Given the description of an element on the screen output the (x, y) to click on. 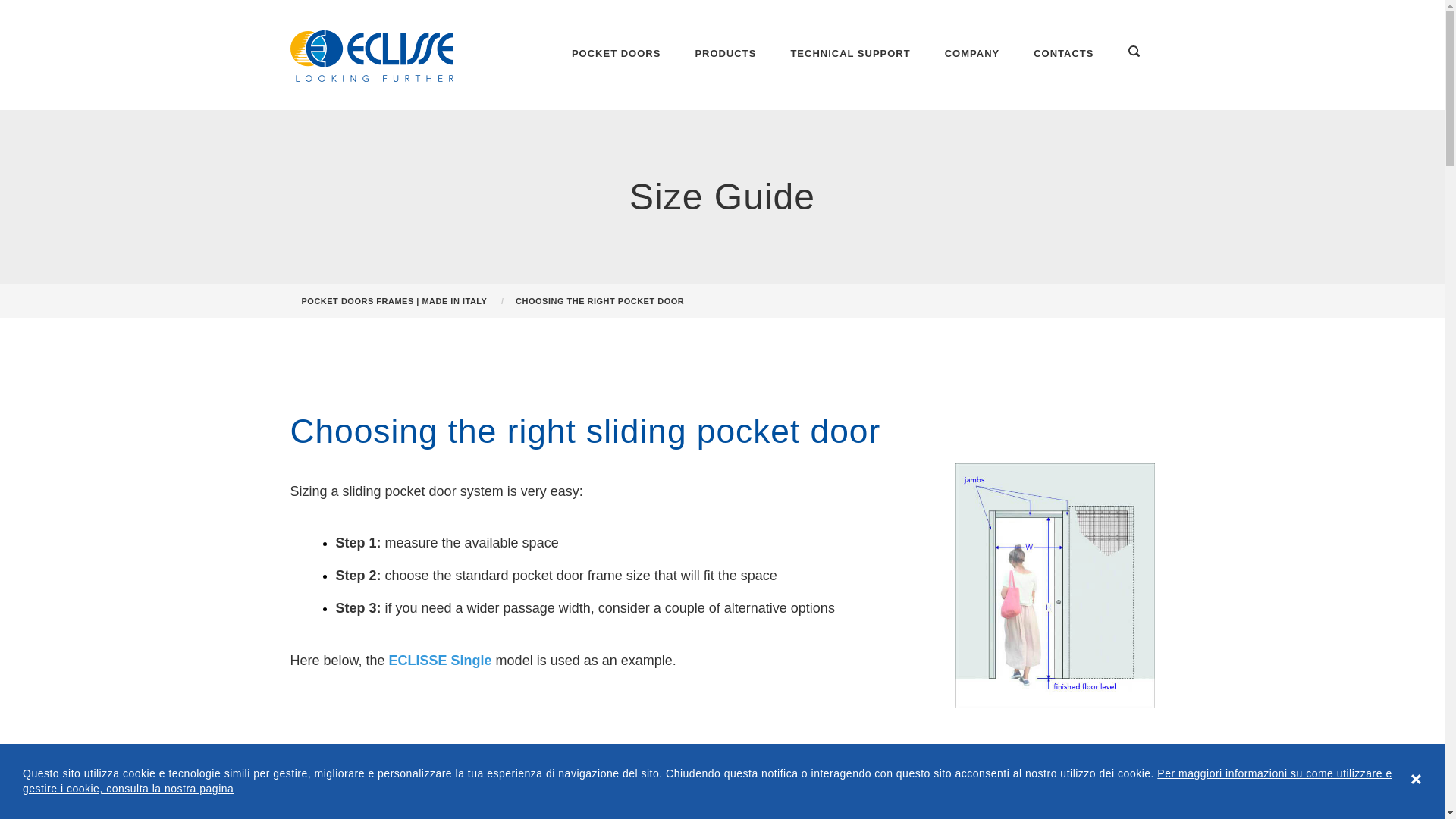
TECHNICAL SUPPORT (849, 55)
POCKET DOORS (615, 55)
Eclisse (370, 55)
ECLISSE Single (440, 660)
CHOOSING THE RIGHT POCKET DOOR (599, 301)
